Given the description of an element on the screen output the (x, y) to click on. 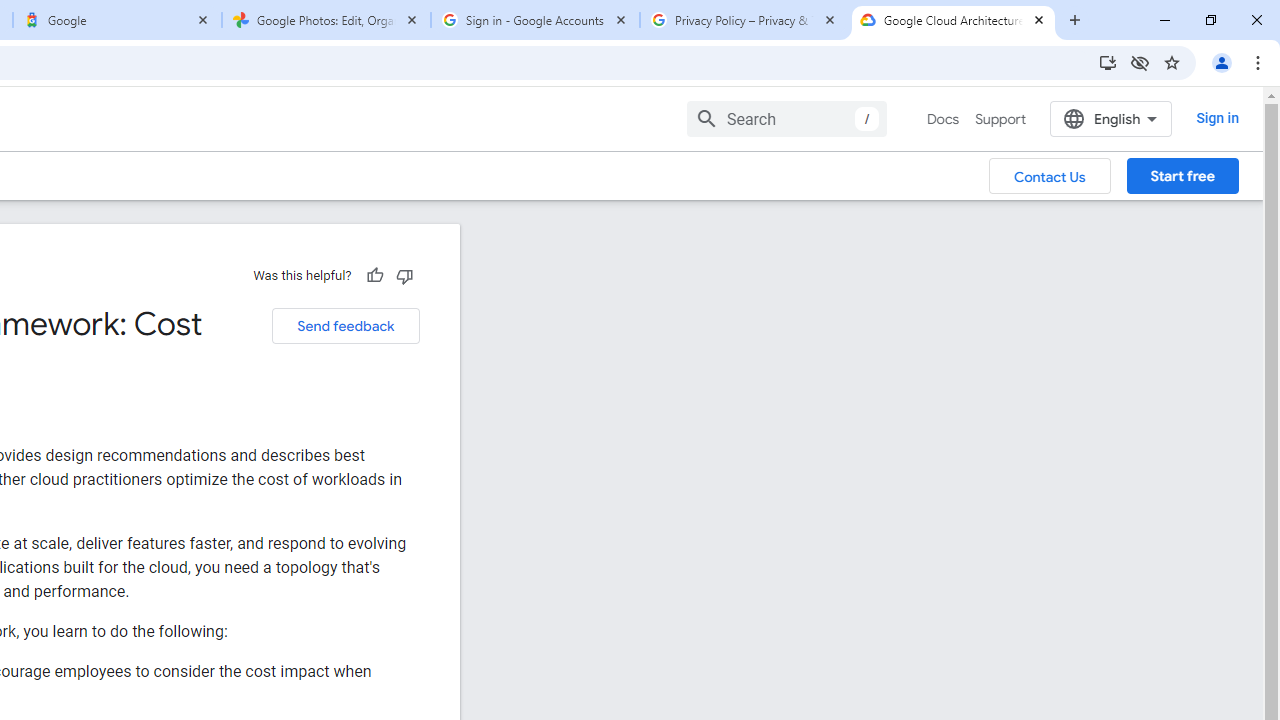
Sign in - Google Accounts (535, 20)
Install Google Cloud (1107, 62)
Not helpful (404, 275)
Google (116, 20)
Docs, selected (942, 119)
English (1110, 118)
